Given the description of an element on the screen output the (x, y) to click on. 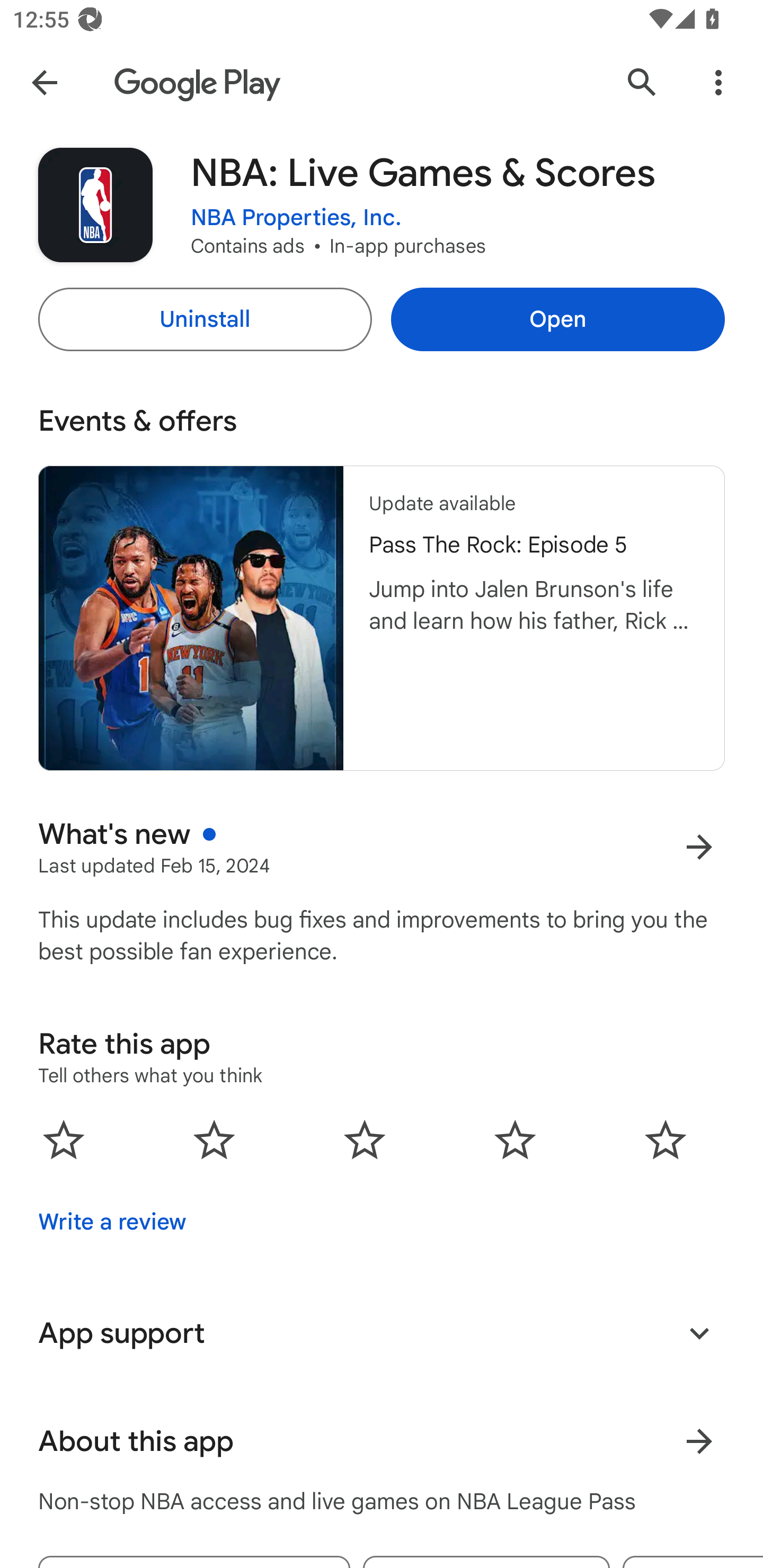
Navigate up (44, 81)
Search Google Play (642, 81)
More Options (718, 81)
NBA Properties, Inc. (295, 217)
Uninstall (205, 318)
Open (557, 318)
More results for What's new (699, 847)
0.0 (364, 1138)
Write a review (112, 1221)
App support Expand (381, 1333)
Expand (699, 1333)
About this app Learn more About this app (381, 1441)
Learn more About this app (699, 1441)
